Given the description of an element on the screen output the (x, y) to click on. 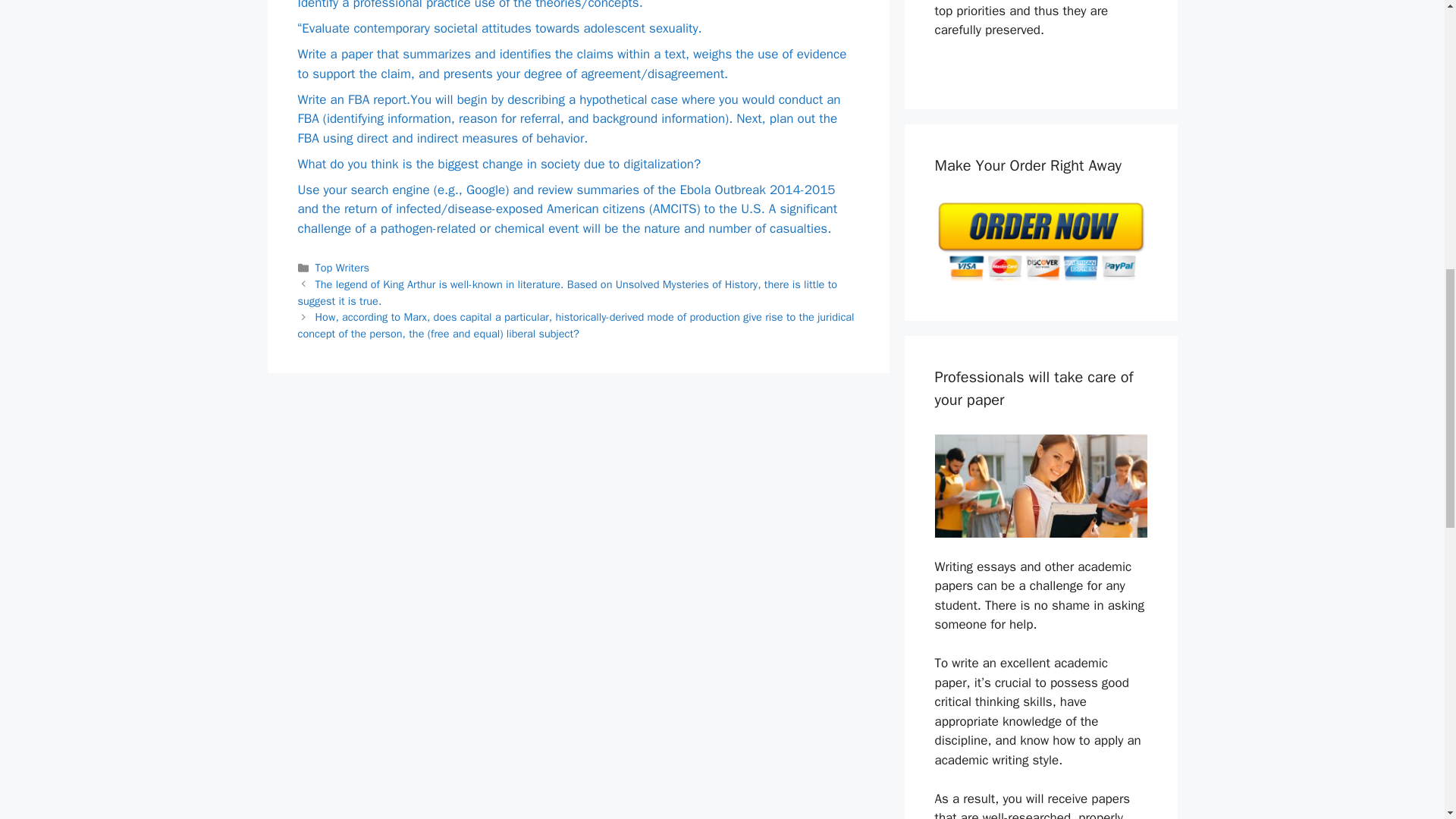
Top Writers (342, 267)
